Given the description of an element on the screen output the (x, y) to click on. 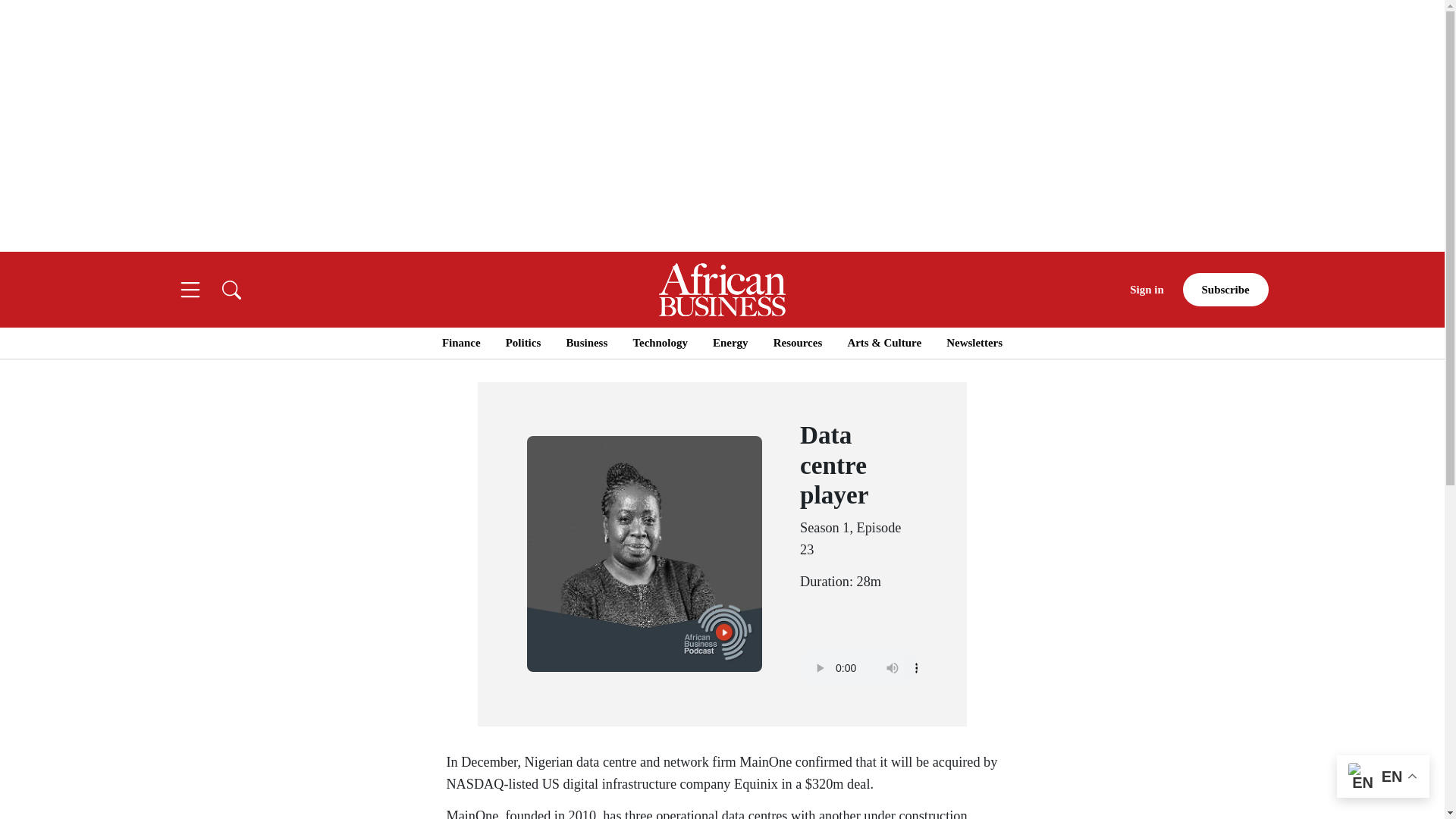
Finance (461, 342)
Politics (522, 342)
Newsletters (974, 342)
Technology (659, 342)
Resources (797, 342)
Business (586, 342)
Sign in (1146, 289)
Energy (730, 342)
Subscribe (1225, 289)
